Given the description of an element on the screen output the (x, y) to click on. 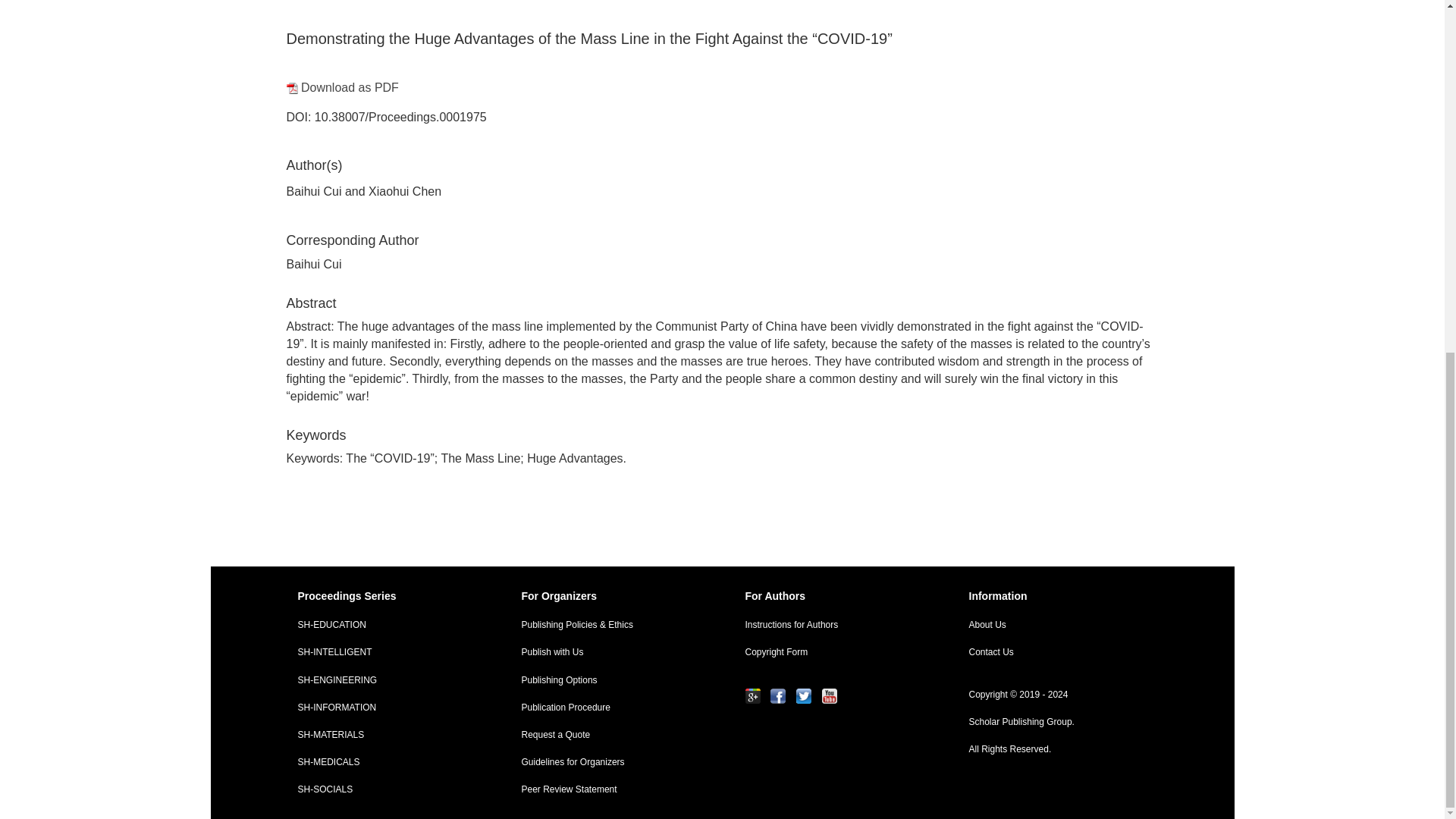
Proceedings Series (386, 596)
Publication Procedure (609, 707)
Copyright Form (833, 652)
SH-MEDICALS (386, 762)
For Organizers (609, 596)
Peer Review Statement (609, 789)
Instructions for Authors (833, 624)
About Us (1056, 624)
SH-INFORMATION (386, 707)
Download as PDF (342, 87)
